Given the description of an element on the screen output the (x, y) to click on. 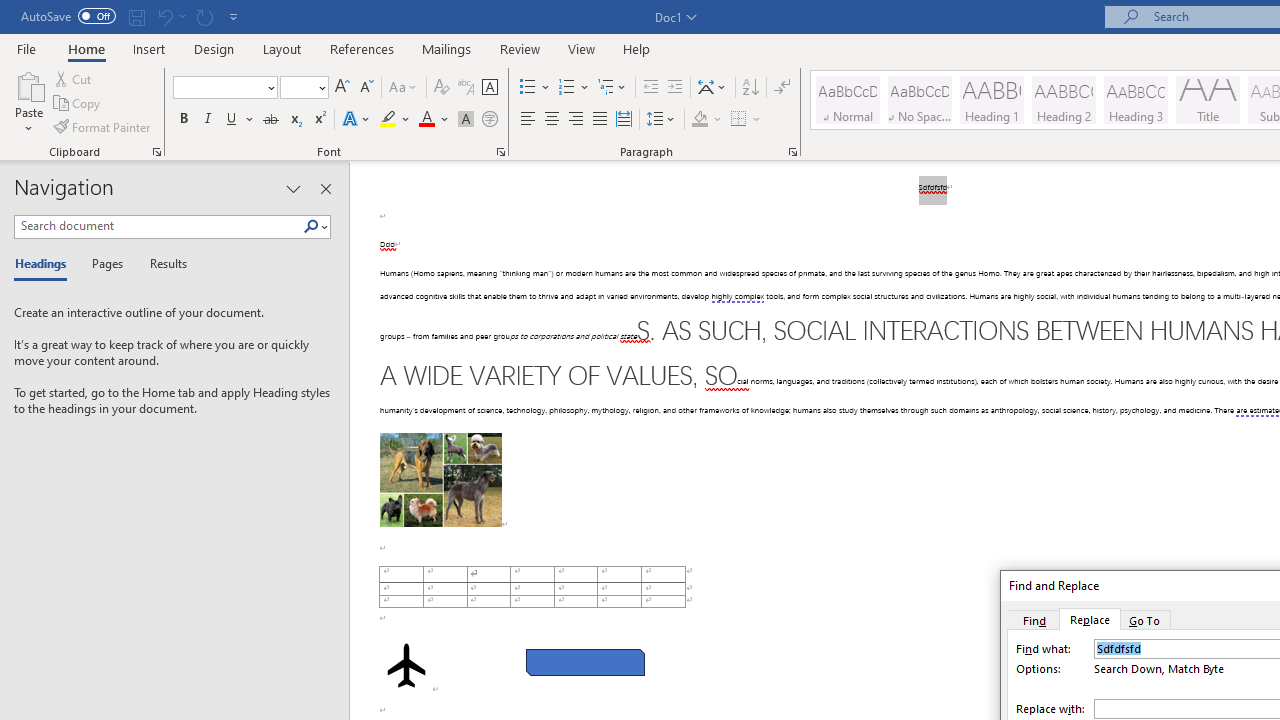
Copy (78, 103)
Enclose Characters... (489, 119)
Shrink Font (365, 87)
Center (552, 119)
Align Left (527, 119)
Show/Hide Editing Marks (781, 87)
Text Highlight Color Yellow (388, 119)
Cut (73, 78)
Format Painter (103, 126)
Strikethrough (270, 119)
Paragraph... (792, 151)
